Given the description of an element on the screen output the (x, y) to click on. 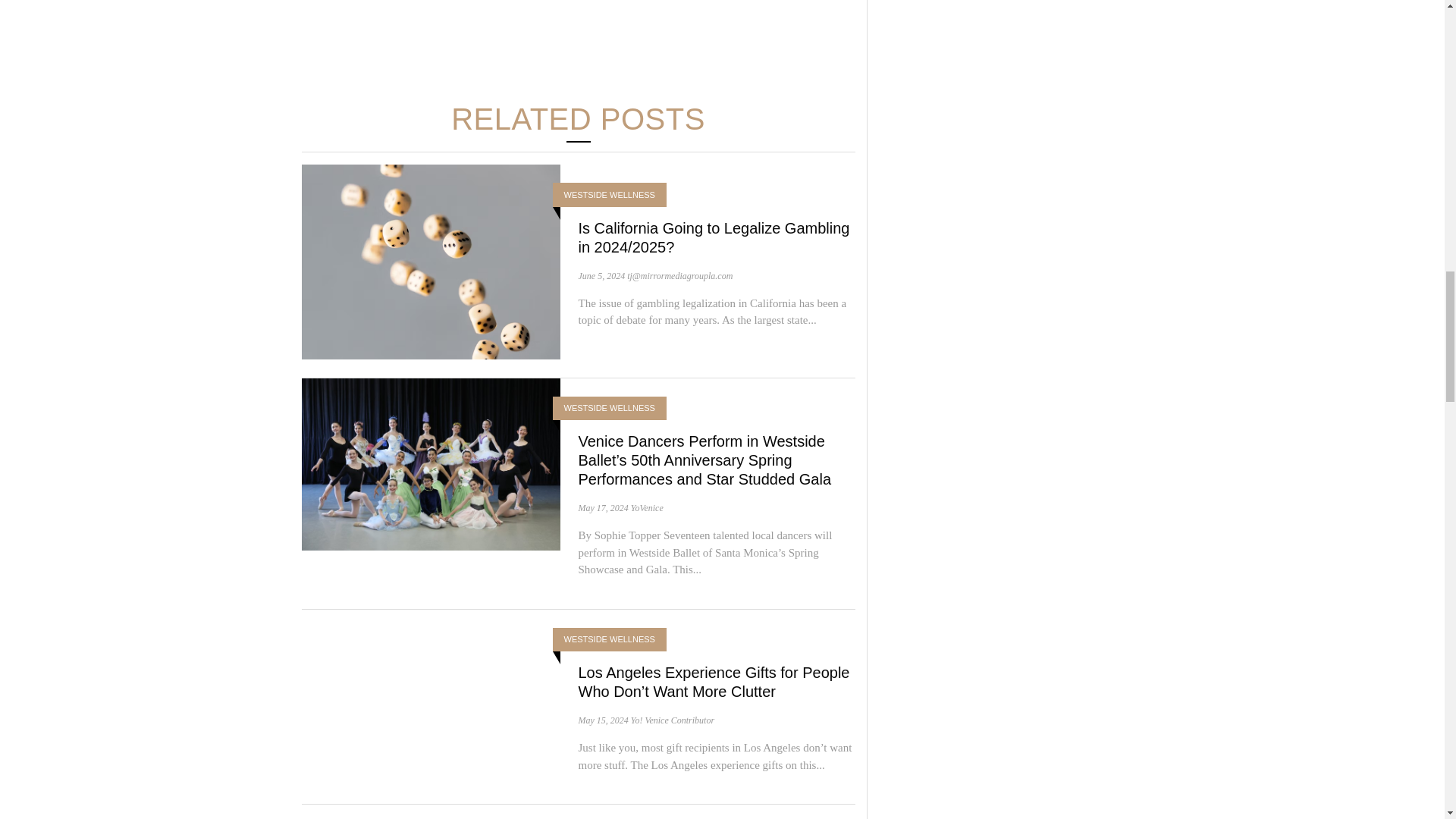
Posts by Yo! Venice Contributor (672, 719)
Posts by YoVenice (646, 507)
WESTSIDE WELLNESS (609, 195)
